Given the description of an element on the screen output the (x, y) to click on. 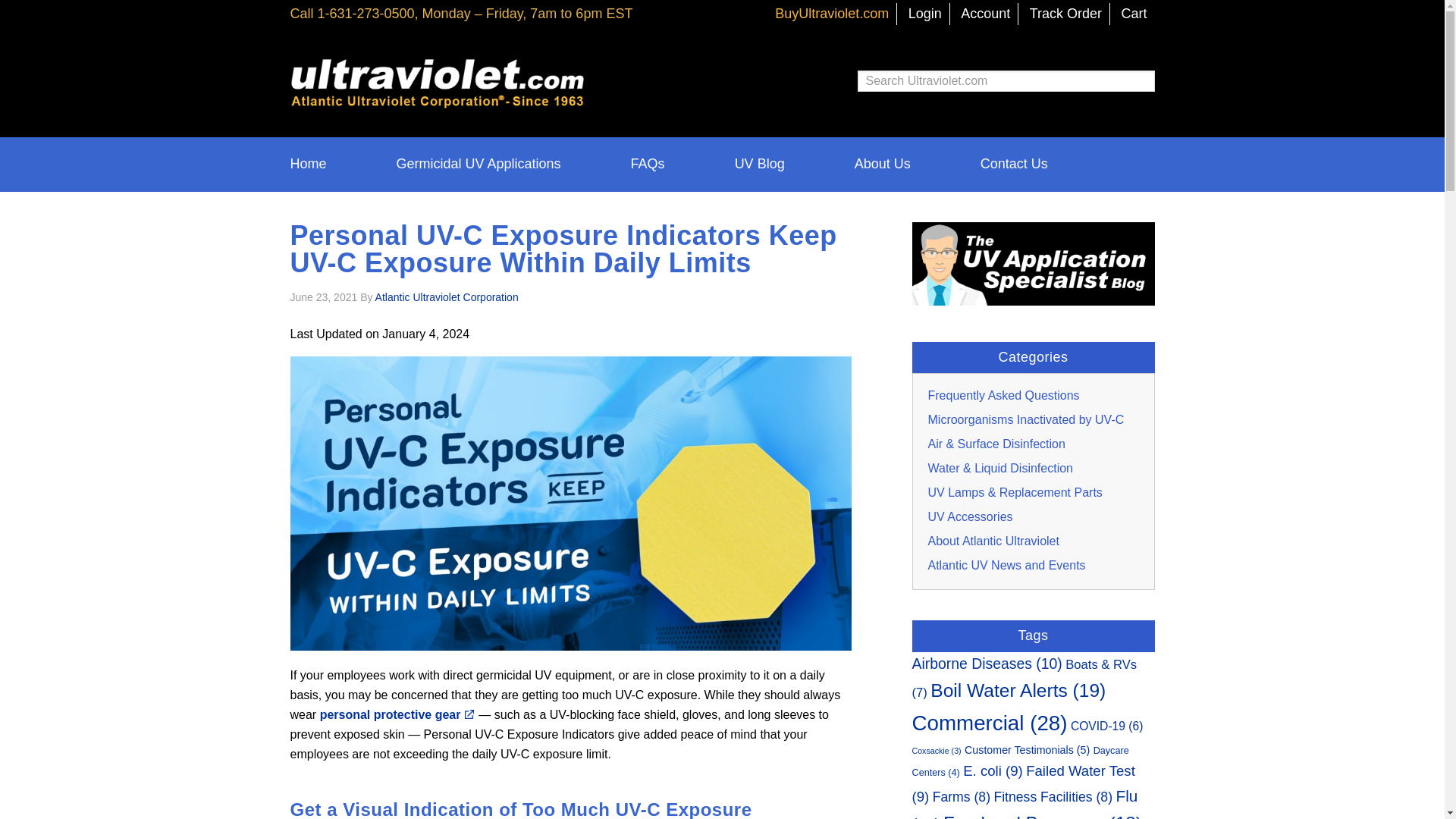
Login (925, 14)
BuyUltraviolet.com (831, 14)
FAQs (647, 164)
Home (325, 164)
UV Blog (759, 164)
Cart (1134, 14)
About Us (881, 164)
Track Order (1065, 14)
ULTRAVIOLET.COM (410, 78)
Contact Us (996, 164)
Account (985, 14)
Germicidal UV Applications (478, 164)
